Given the description of an element on the screen output the (x, y) to click on. 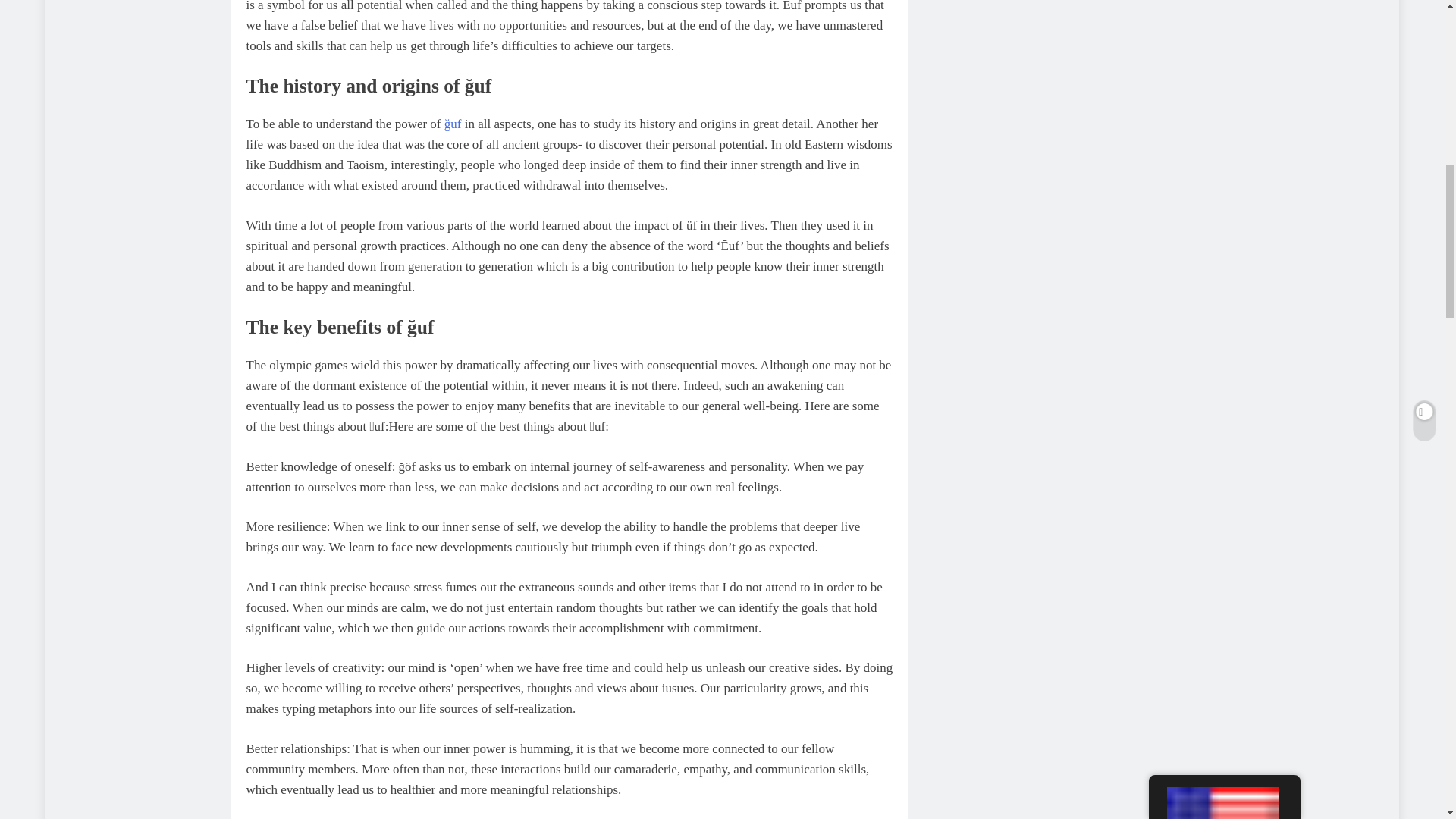
English (1222, 21)
